Given the description of an element on the screen output the (x, y) to click on. 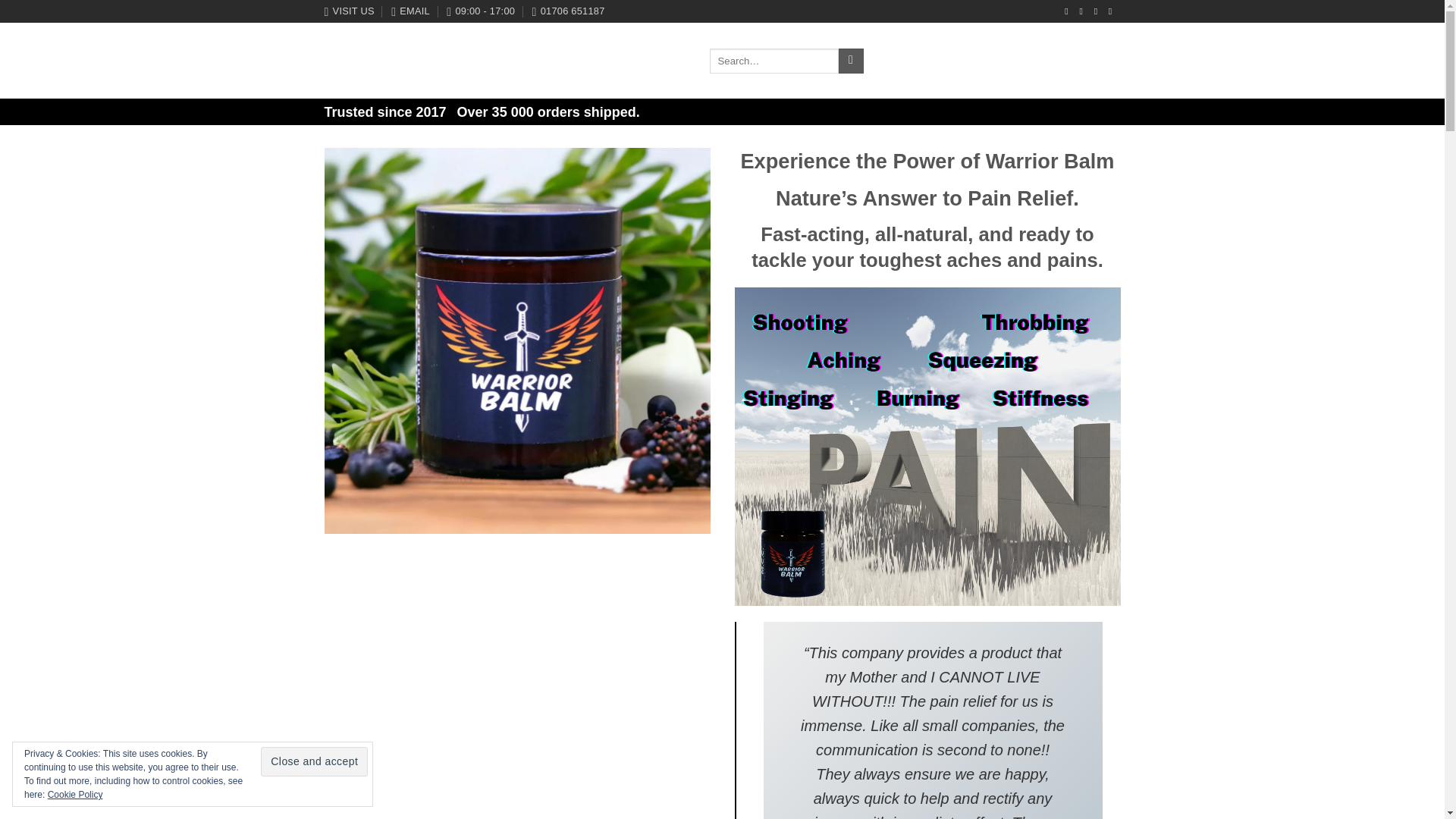
VISIT US (349, 11)
ABOUT (609, 60)
09:00 - 17:00  (480, 11)
CONTACT (662, 60)
01706 651187 (568, 11)
LOGIN (1027, 60)
Close and accept (314, 761)
Cookie Policy (75, 794)
Search (850, 61)
SHOP (566, 60)
